Given the description of an element on the screen output the (x, y) to click on. 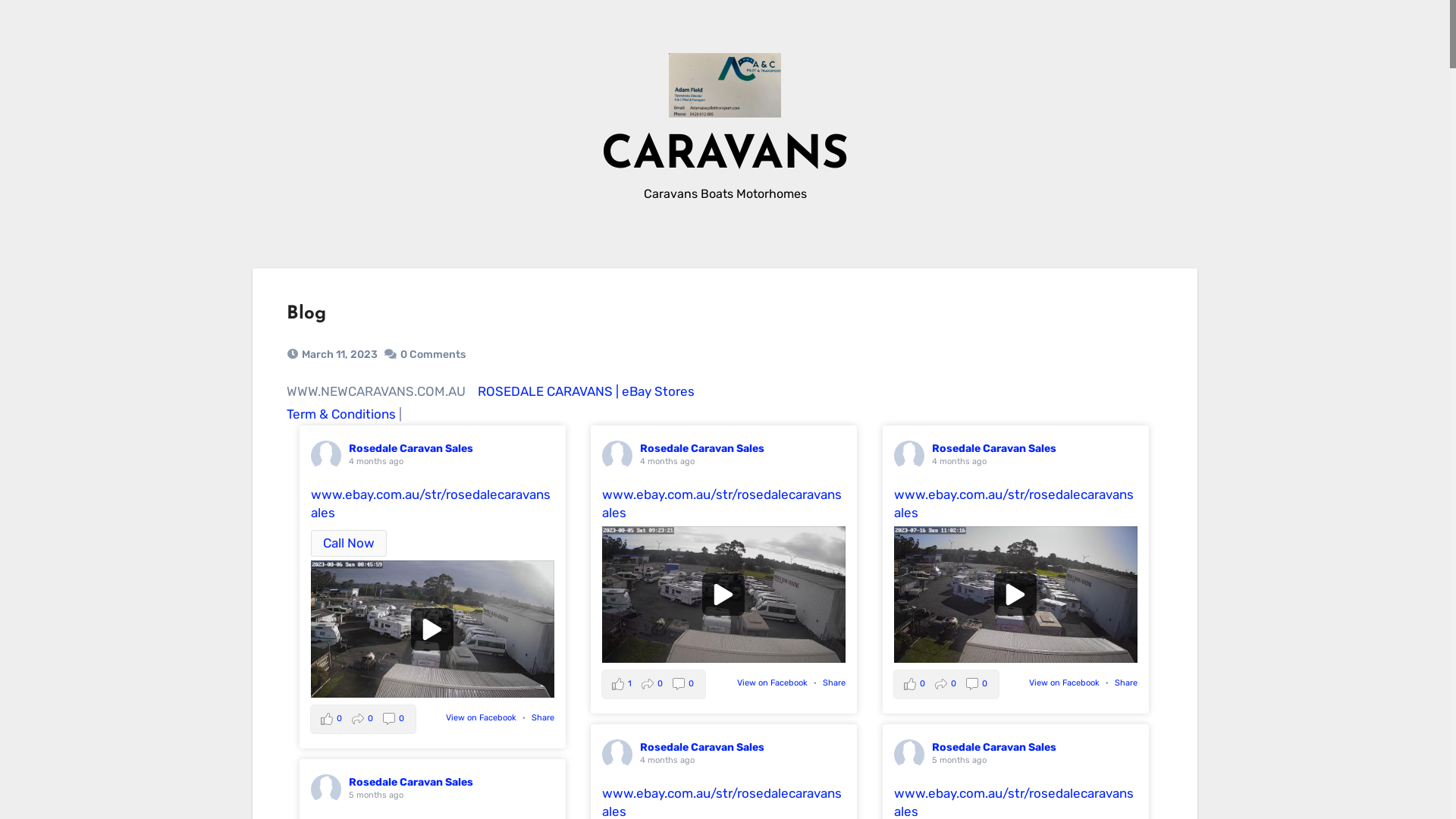
www.ebay.com.au/str/rosedalecaravansales Element type: text (430, 503)
CARAVANS Element type: text (724, 155)
Rosedale Caravan Sales Element type: text (993, 746)
View Comments
Likes:
0
Shares:
0
Comments:
0 Element type: text (946, 684)
Share Element type: text (833, 682)
Rosedale Caravan Sales Element type: text (410, 781)
Play Element type: text (431, 628)
Rosedale Caravan Sales Element type: text (993, 448)
www.ebay.com.au/str/rosedalecaravansales Element type: text (1013, 503)
View Comments
Likes:
0
Shares:
0
Comments:
0 Element type: text (362, 719)
Play Element type: text (1015, 594)
Rosedale Caravan Sales Element type: text (702, 448)
ROSEDALE CARAVANS | eBay Stores Element type: text (585, 390)
0 Comments Element type: text (432, 354)
Rosedale Caravan Sales Element type: text (702, 746)
View Comments
Likes:
1
Shares:
0
Comments:
0 Element type: text (653, 684)
View on Facebook Element type: text (480, 717)
March 11, 2023 Element type: text (339, 354)
Share Element type: text (1125, 682)
Share Element type: text (542, 717)
Call Now Element type: text (348, 543)
Term & Conditions Element type: text (340, 413)
Blog Element type: text (306, 313)
Play Element type: text (723, 594)
View on Facebook Element type: text (1064, 682)
Rosedale Caravan Sales Element type: text (410, 448)
View on Facebook Element type: text (772, 682)
www.ebay.com.au/str/rosedalecaravansales Element type: text (721, 503)
